Given the description of an element on the screen output the (x, y) to click on. 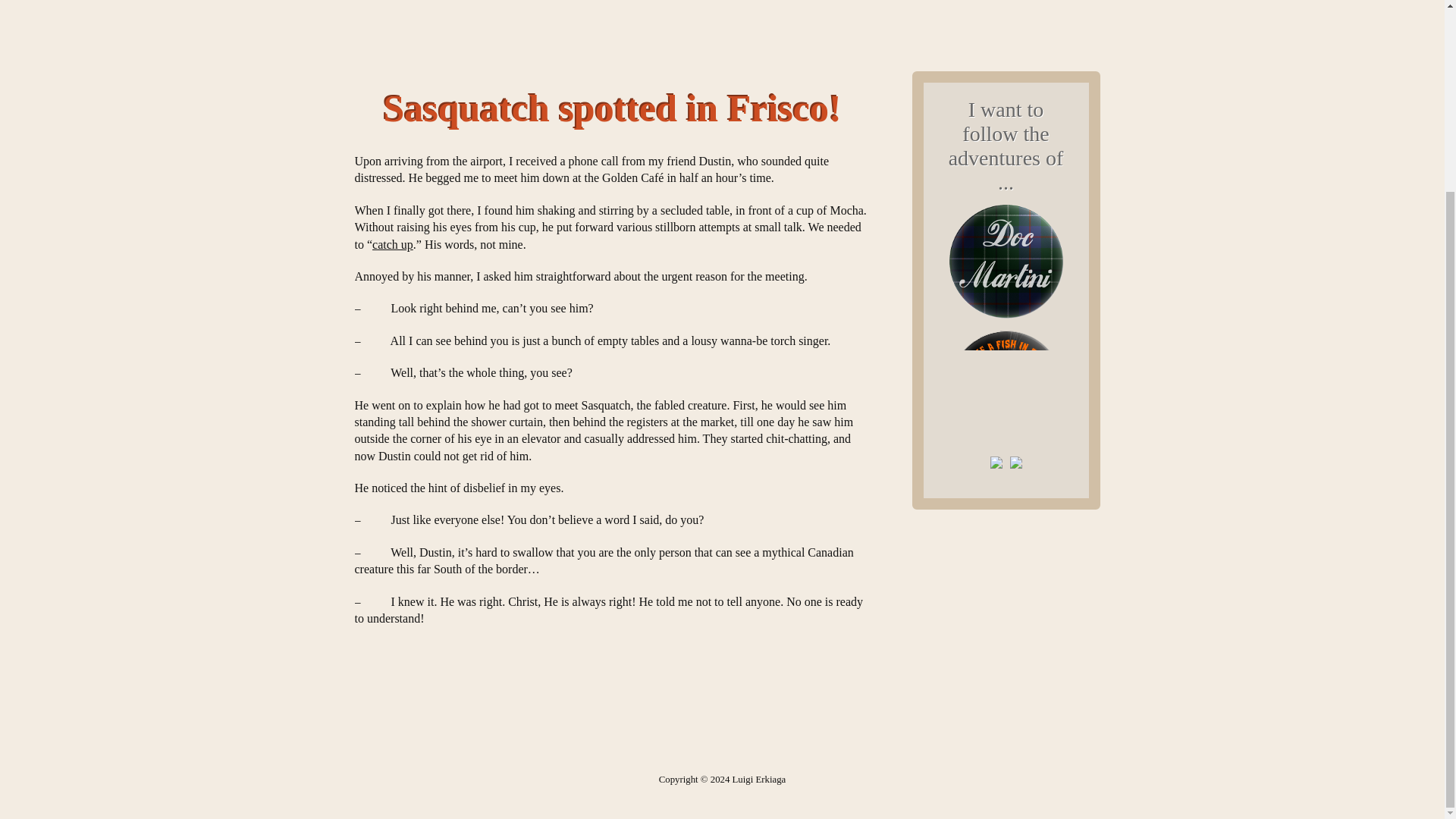
... or jump to a random adventure!!! (1015, 473)
Follow LiteraDeathKult's adventures! (997, 473)
Follow Fish of the Abyss's adventures! (1005, 449)
Follow Doc Martini's adventures! (1005, 323)
